Given the description of an element on the screen output the (x, y) to click on. 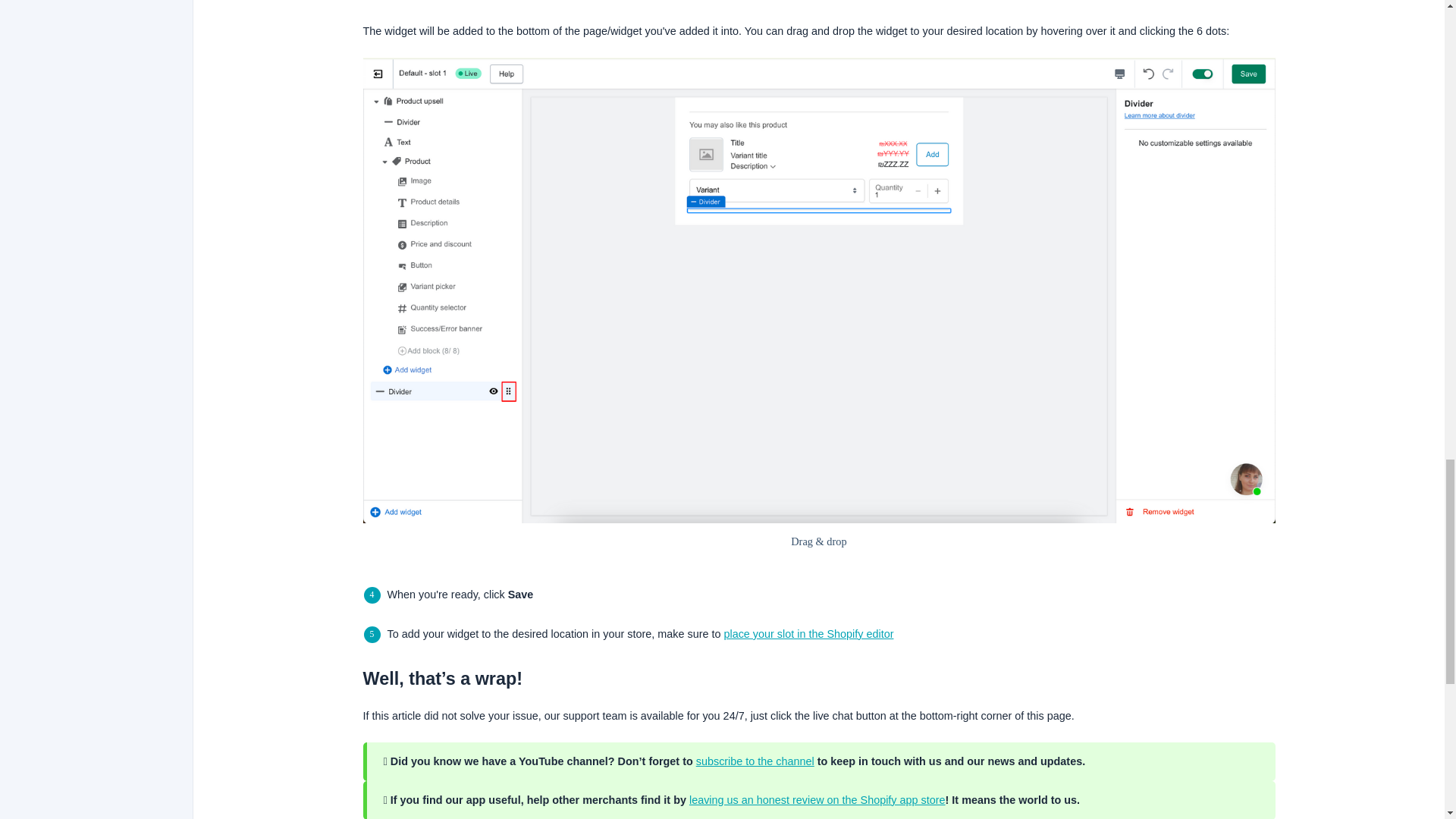
place your slot in the Shopify editor (808, 633)
subscribe to the channel (754, 761)
leaving us an honest review on the Shopify app store (816, 799)
